Given the description of an element on the screen output the (x, y) to click on. 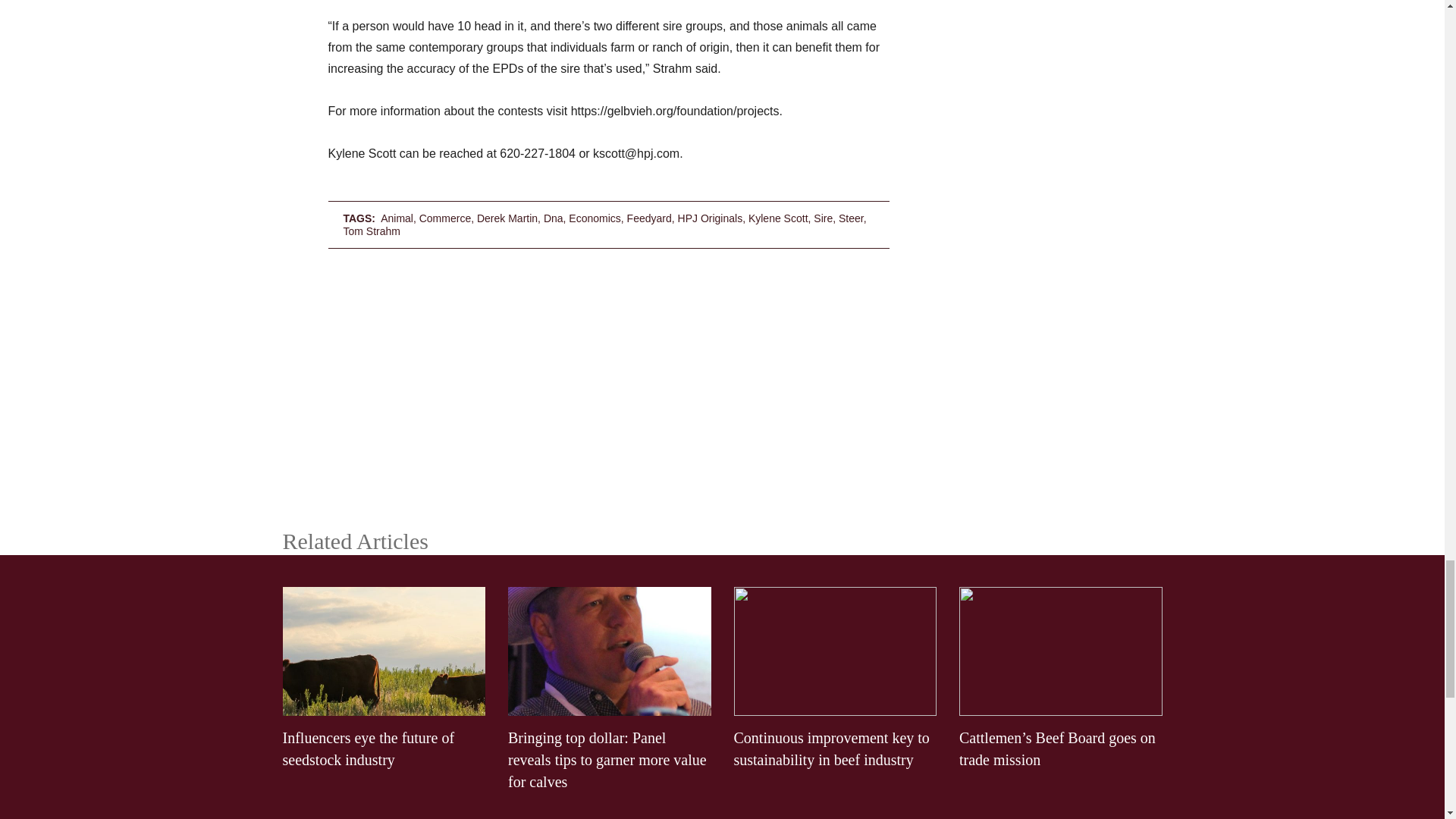
3rd party ad content (721, 380)
